Given the description of an element on the screen output the (x, y) to click on. 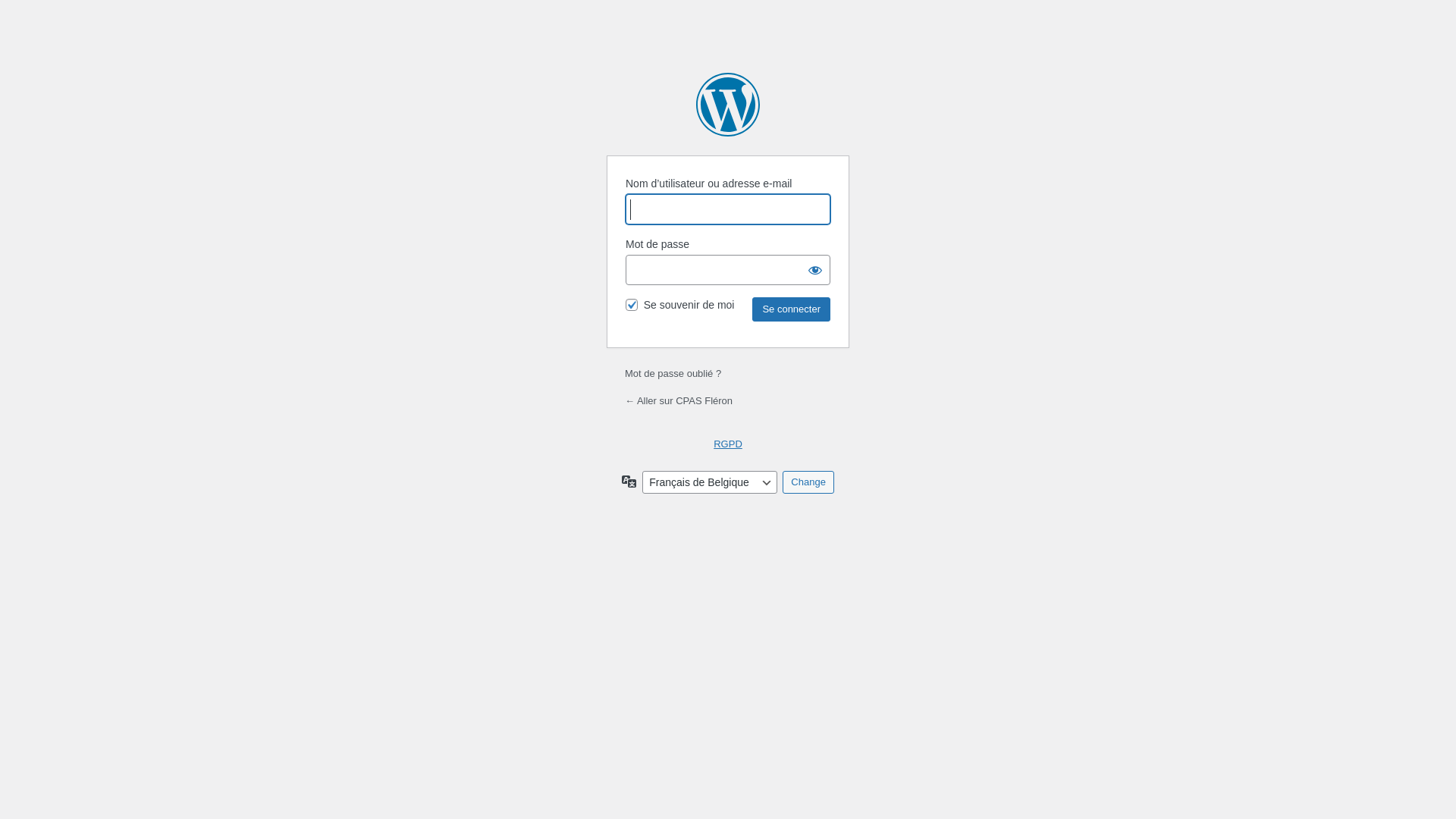
Se connecter Element type: text (791, 309)
Change Element type: text (808, 481)
RGPD Element type: text (727, 443)
